Given the description of an element on the screen output the (x, y) to click on. 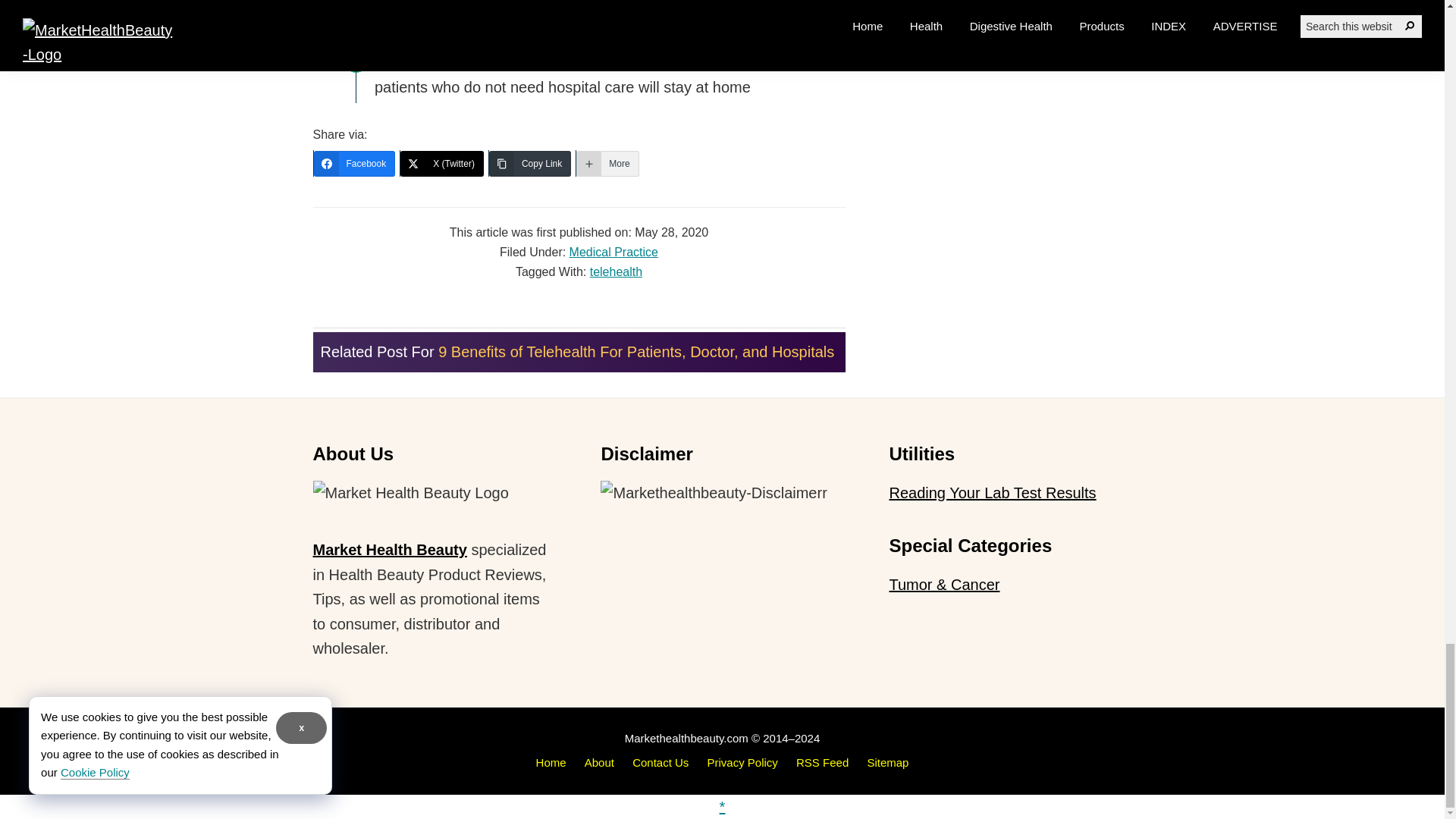
Market Health Beauty (389, 549)
Facebook (355, 163)
Medical Practice (613, 251)
telehealth (615, 271)
Copy Link (529, 163)
Reading Your Lab Test Results (992, 492)
More (607, 163)
